Given the description of an element on the screen output the (x, y) to click on. 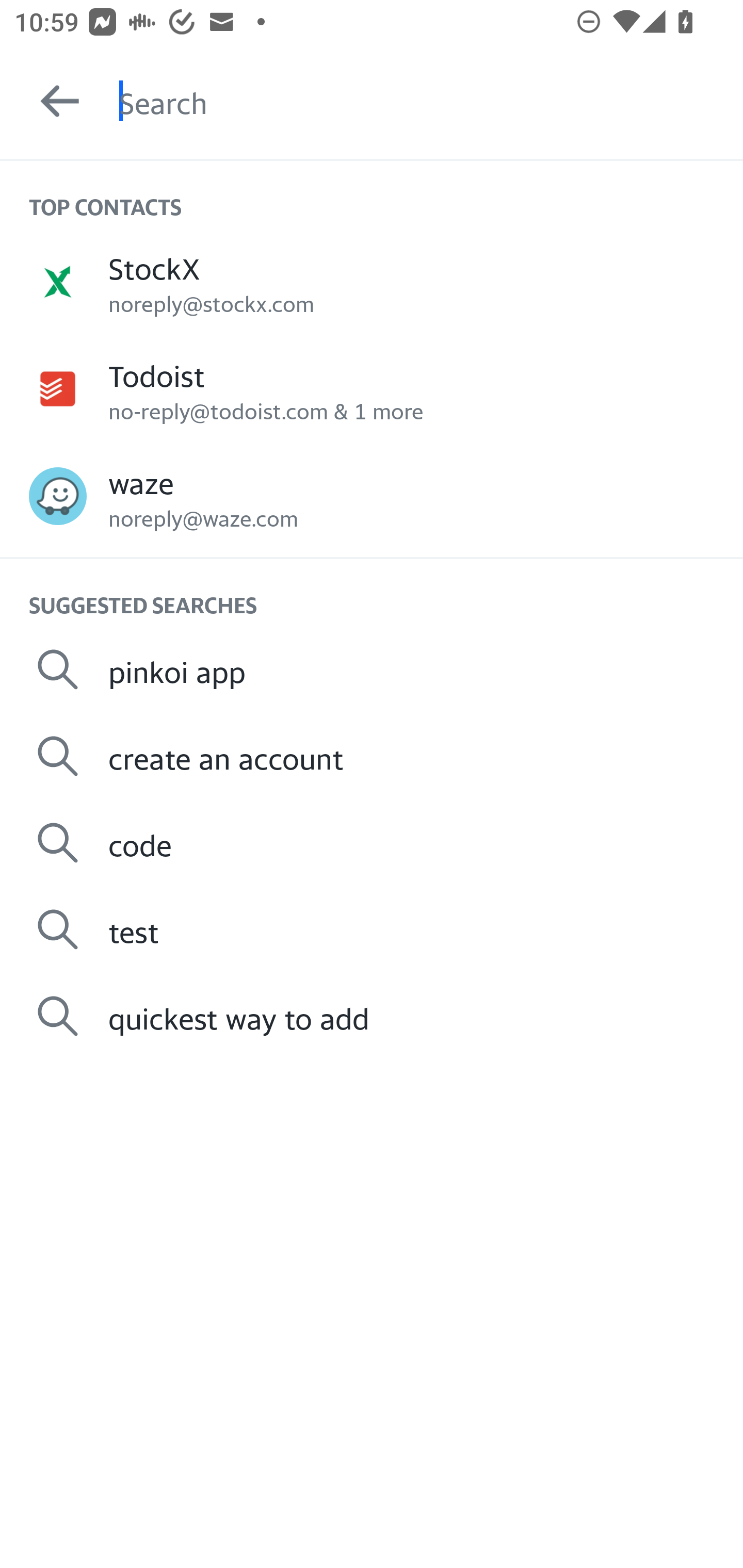
Back (50, 101)
Search (430, 101)
Top contacts StockX noreply@stockx.com (371, 281)
Top contacts Todoist no-reply@todoist.com & 1 more (371, 388)
Top contacts waze noreply@waze.com (371, 496)
Suggested searches pinkoi app (371, 669)
Suggested searches create an account (371, 756)
Suggested searches code (371, 842)
Suggested searches test (371, 928)
Suggested searches quickest way to add (371, 1015)
